Given the description of an element on the screen output the (x, y) to click on. 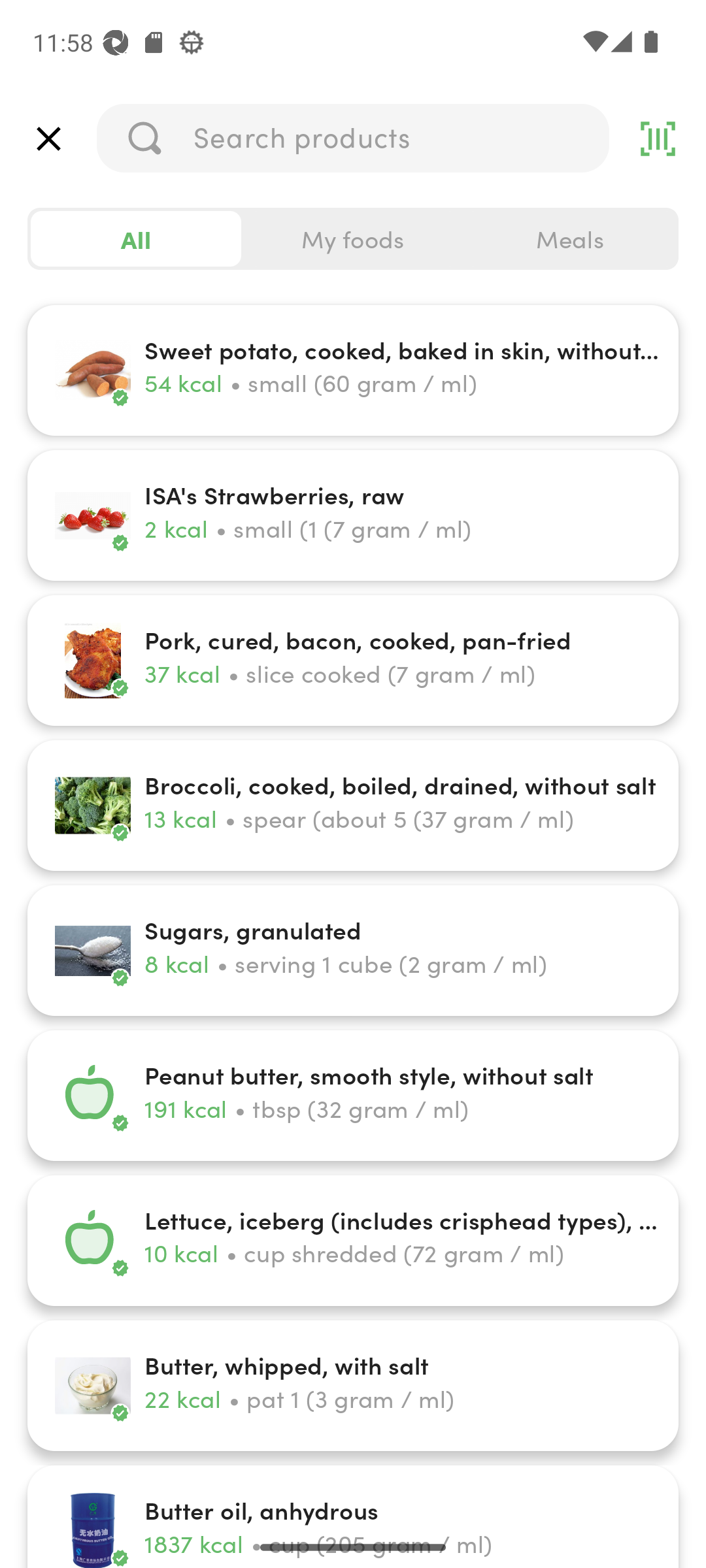
top_left_action (48, 138)
top_right_action (658, 138)
My foods (352, 238)
Meals (569, 238)
